Given the description of an element on the screen output the (x, y) to click on. 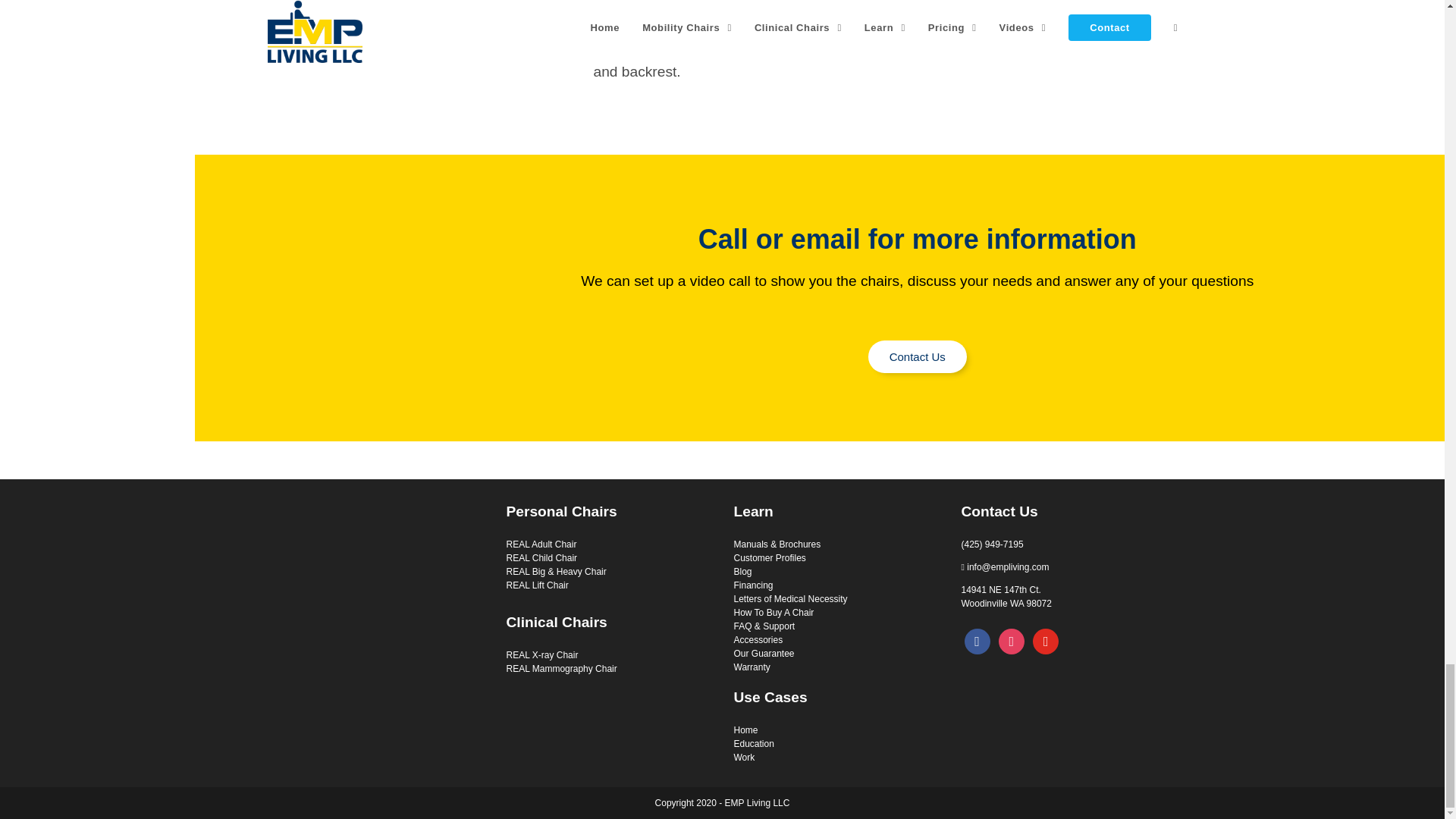
Instagram (1011, 640)
Facebook (976, 640)
Default Label (1045, 640)
